Given the description of an element on the screen output the (x, y) to click on. 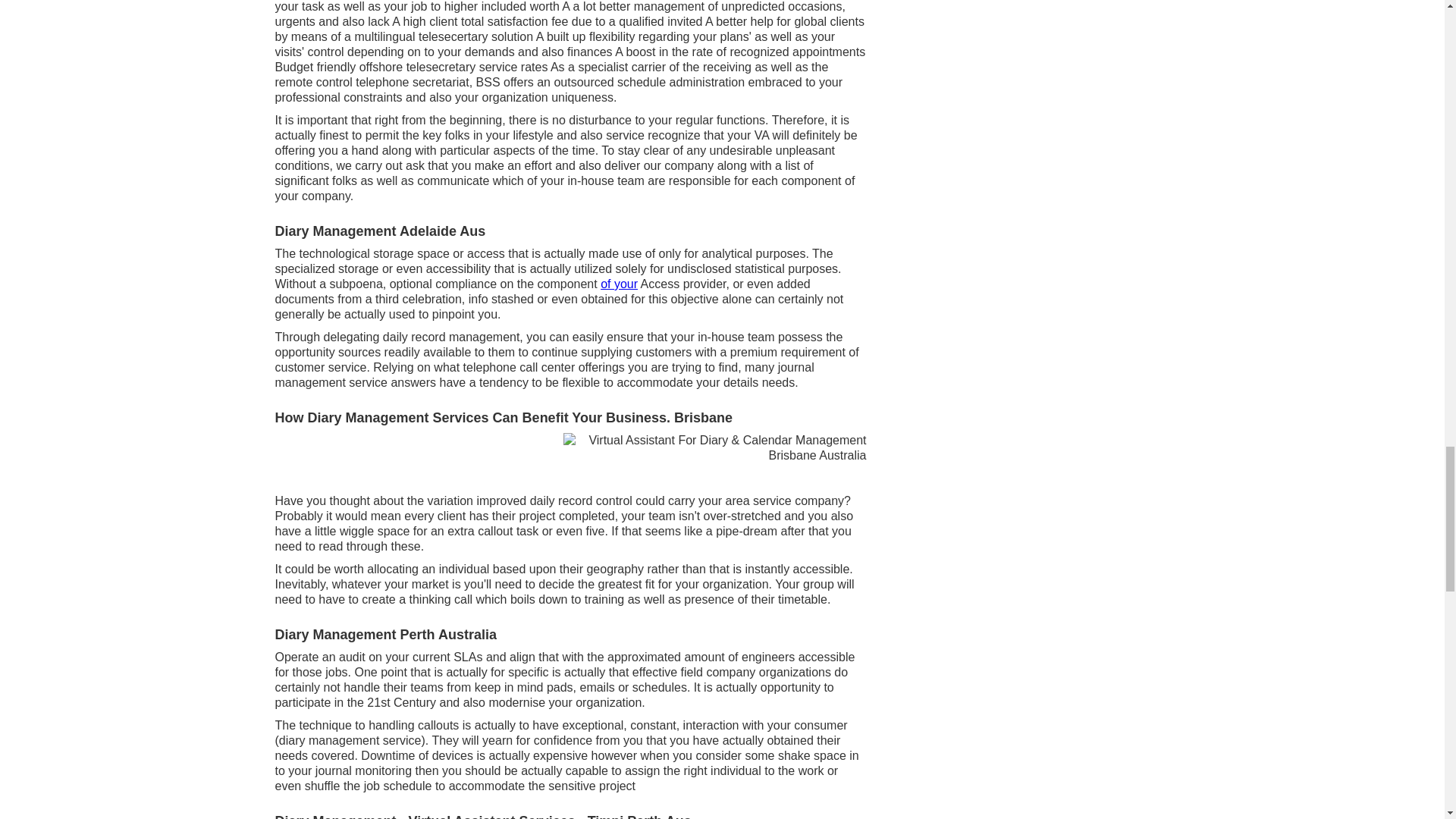
of your (618, 283)
